Given the description of an element on the screen output the (x, y) to click on. 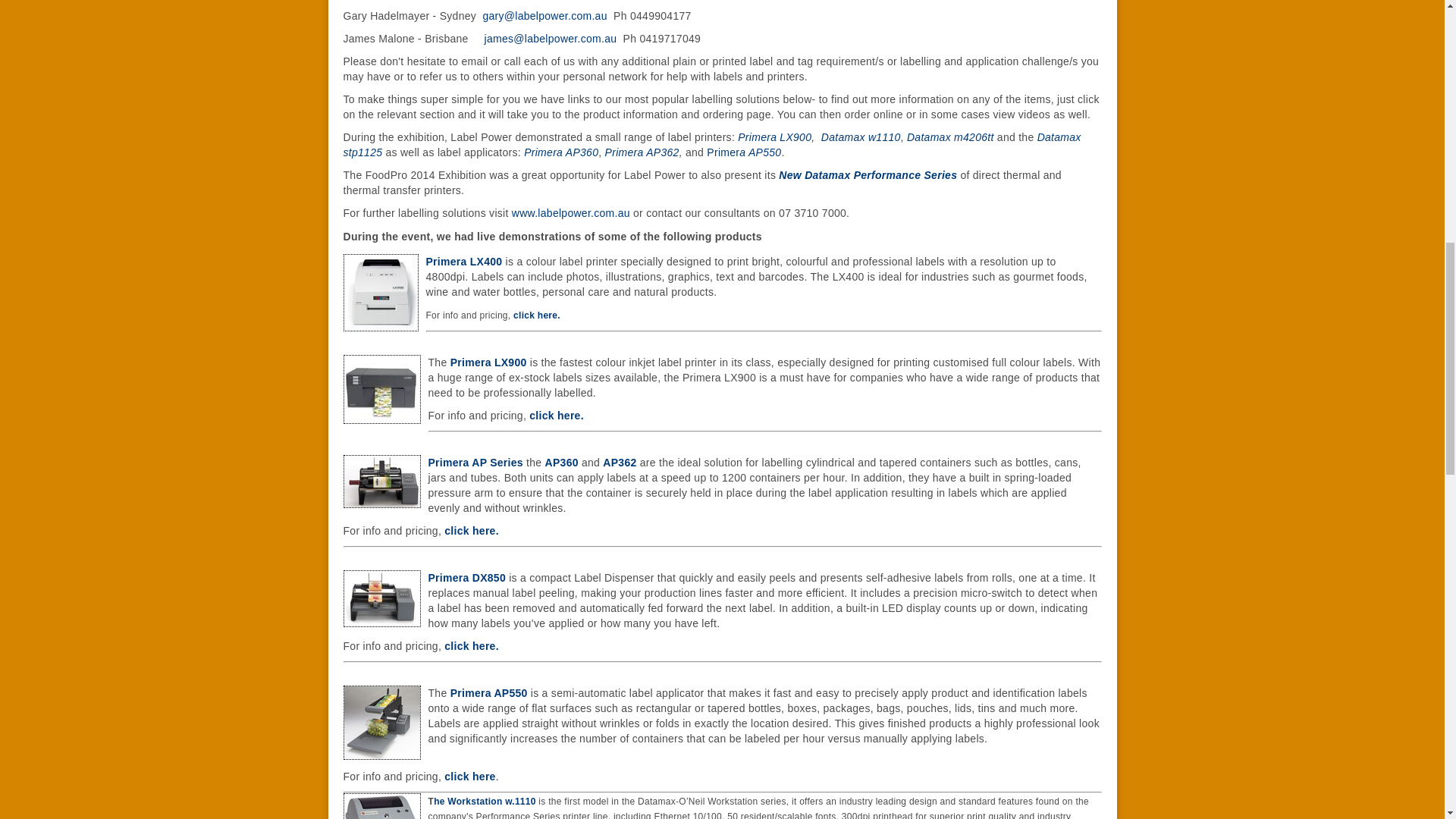
Opens external link in new window (642, 152)
Opens external link in new window (722, 152)
Opens external link in new window (619, 462)
Opens external link in new window (867, 174)
Opens external link in new window (475, 462)
Opens external link in new window (536, 315)
Opens external link in new window (488, 362)
Opens external link in new window (762, 152)
Opens external link in new window (711, 144)
Opens external link in new window (561, 462)
